Given the description of an element on the screen output the (x, y) to click on. 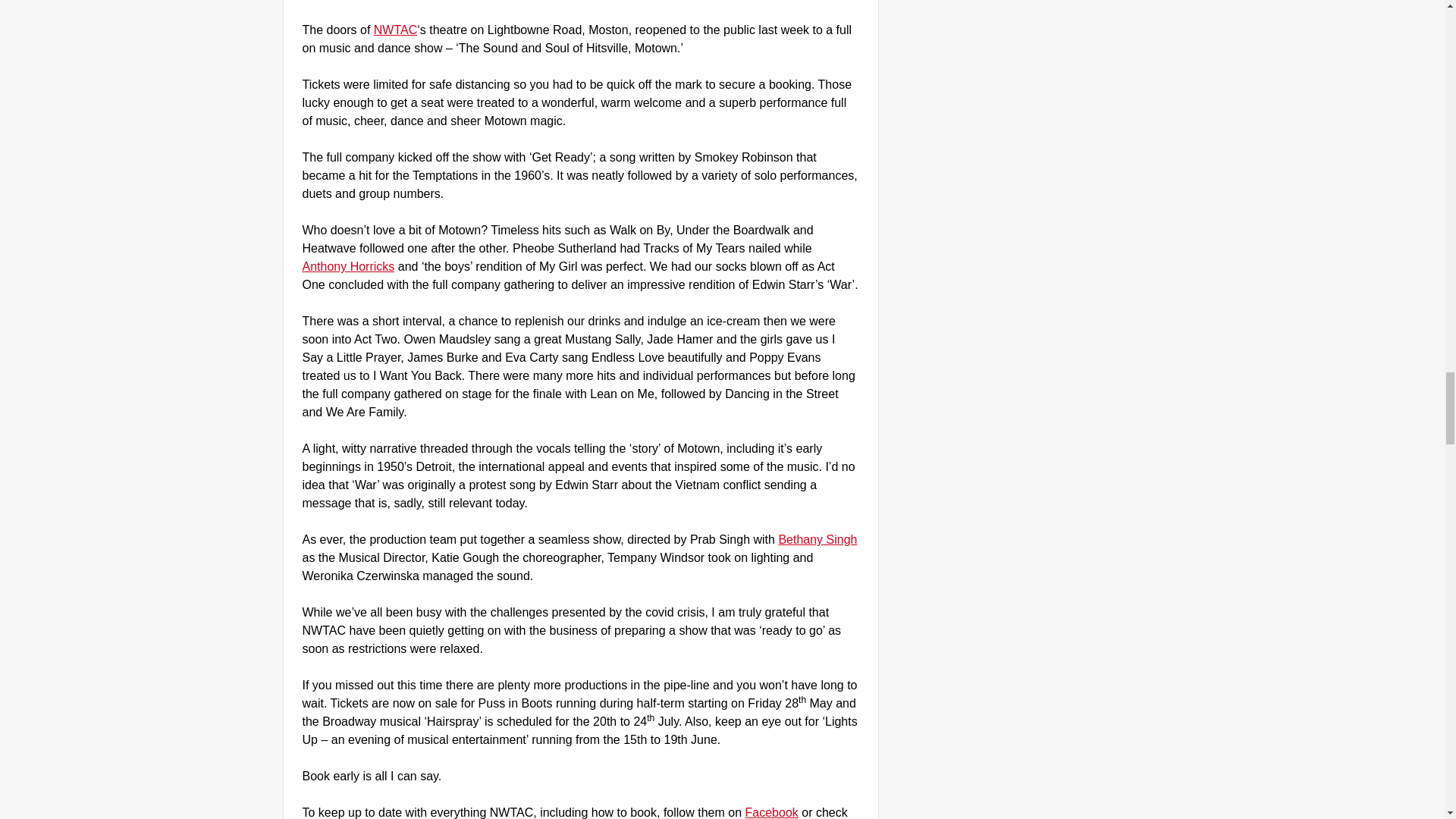
Bethany Singh (817, 539)
Anthony Horricks (347, 266)
NWTAC (395, 29)
Facebook (771, 812)
